Given the description of an element on the screen output the (x, y) to click on. 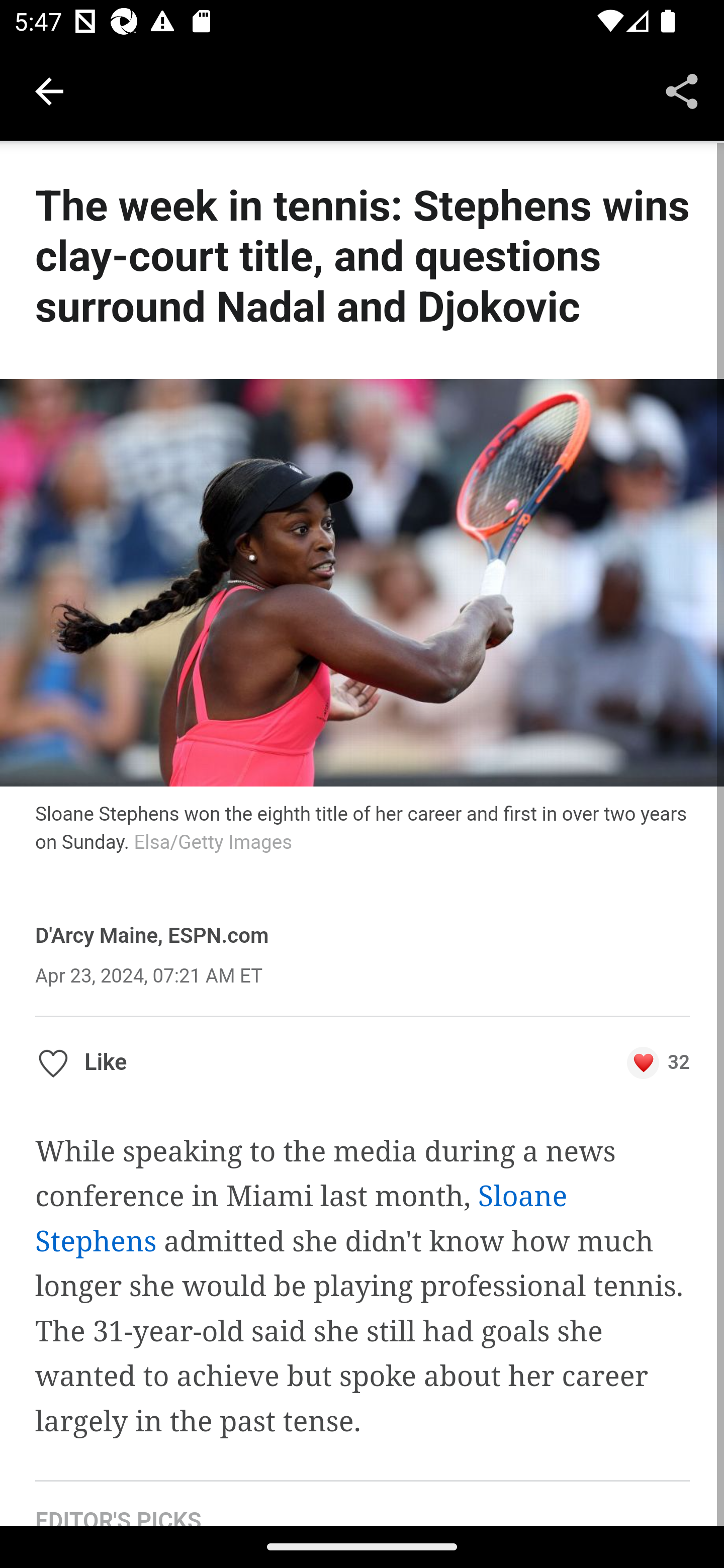
Navigate up (49, 91)
Share (681, 90)
